Given the description of an element on the screen output the (x, y) to click on. 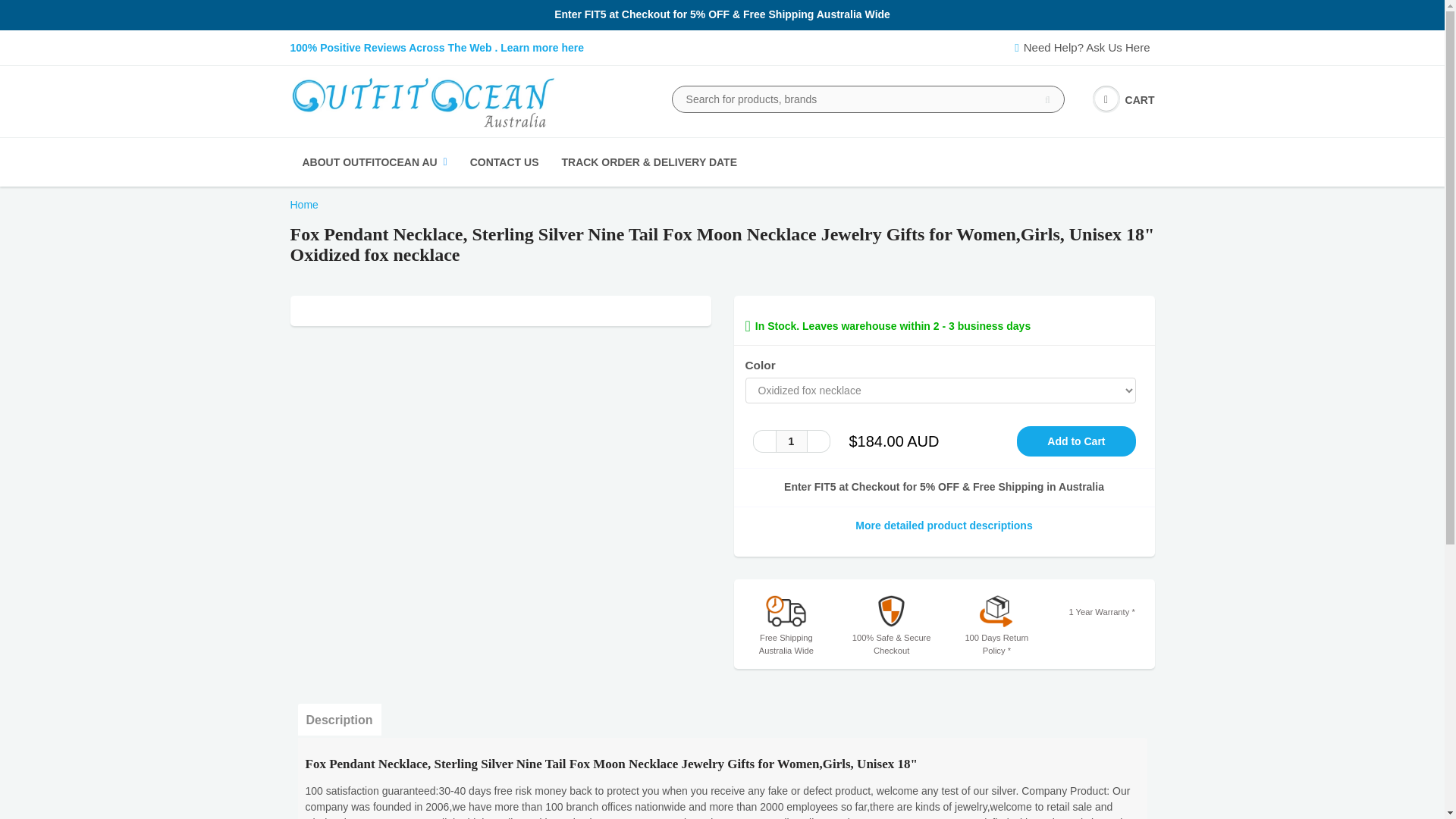
Home (303, 204)
More detailed product descriptions (943, 525)
Add to Cart (1075, 440)
Add to Cart (1075, 440)
CONTACT US (504, 161)
1 (790, 440)
Description (338, 719)
Home (303, 204)
Need Help? Ask Us Here (1084, 47)
CART (1124, 99)
